Given the description of an element on the screen output the (x, y) to click on. 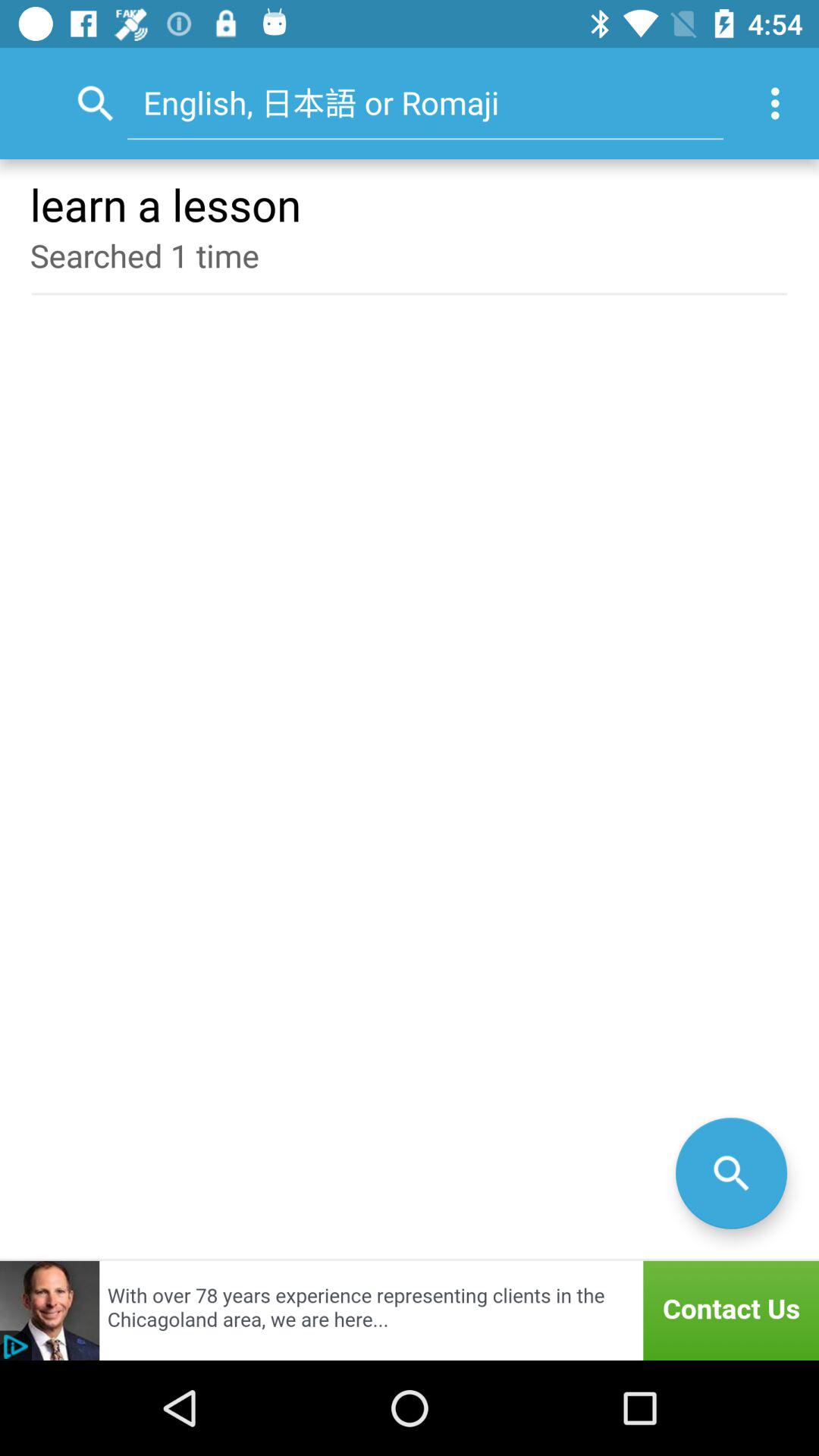
click advertisement (409, 1310)
